Given the description of an element on the screen output the (x, y) to click on. 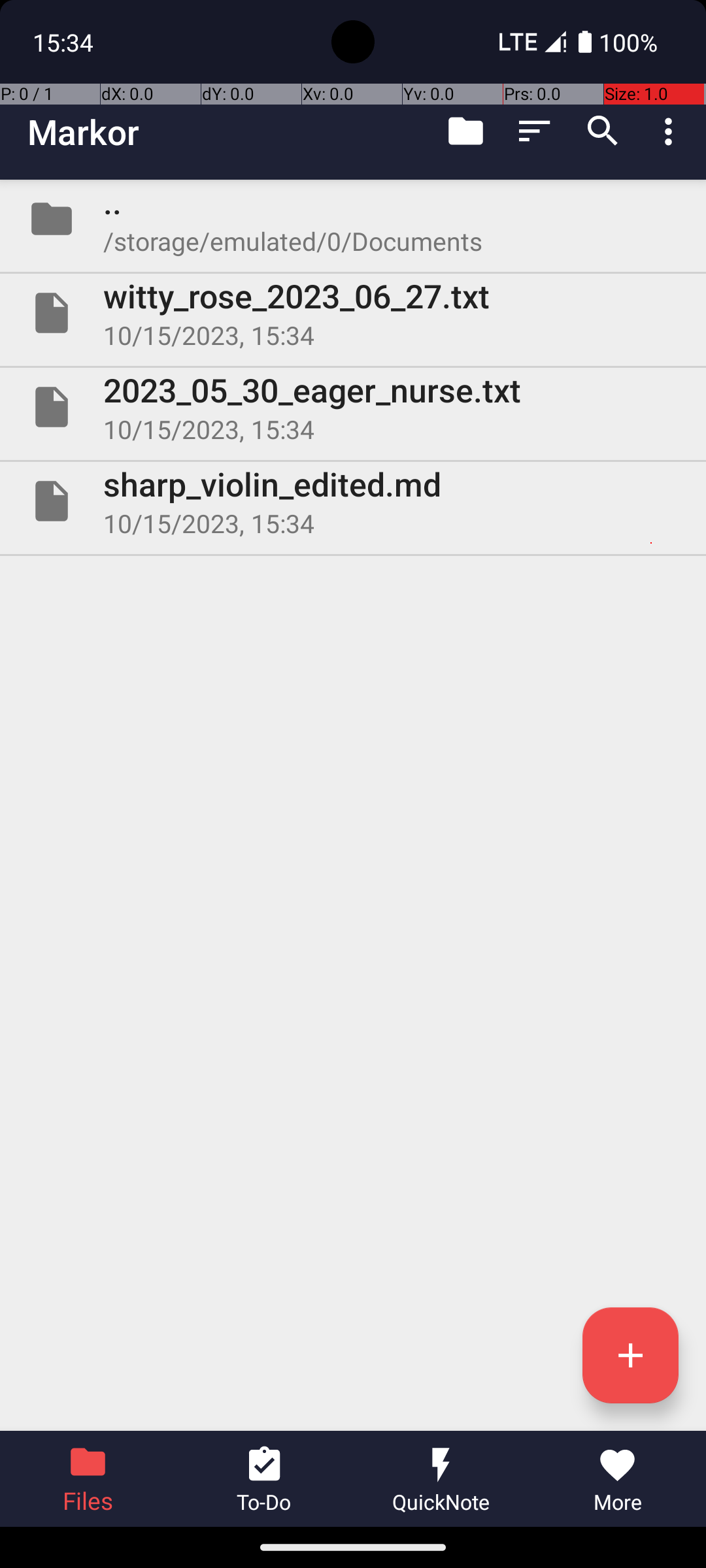
File witty_rose_2023_06_27.txt 10/15/2023, 15:34 Element type: android.widget.LinearLayout (353, 312)
File 2023_05_30_eager_nurse.txt 10/15/2023, 15:34 Element type: android.widget.LinearLayout (353, 406)
File sharp_violin_edited.md 10/15/2023, 15:34 Element type: android.widget.LinearLayout (353, 500)
